Given the description of an element on the screen output the (x, y) to click on. 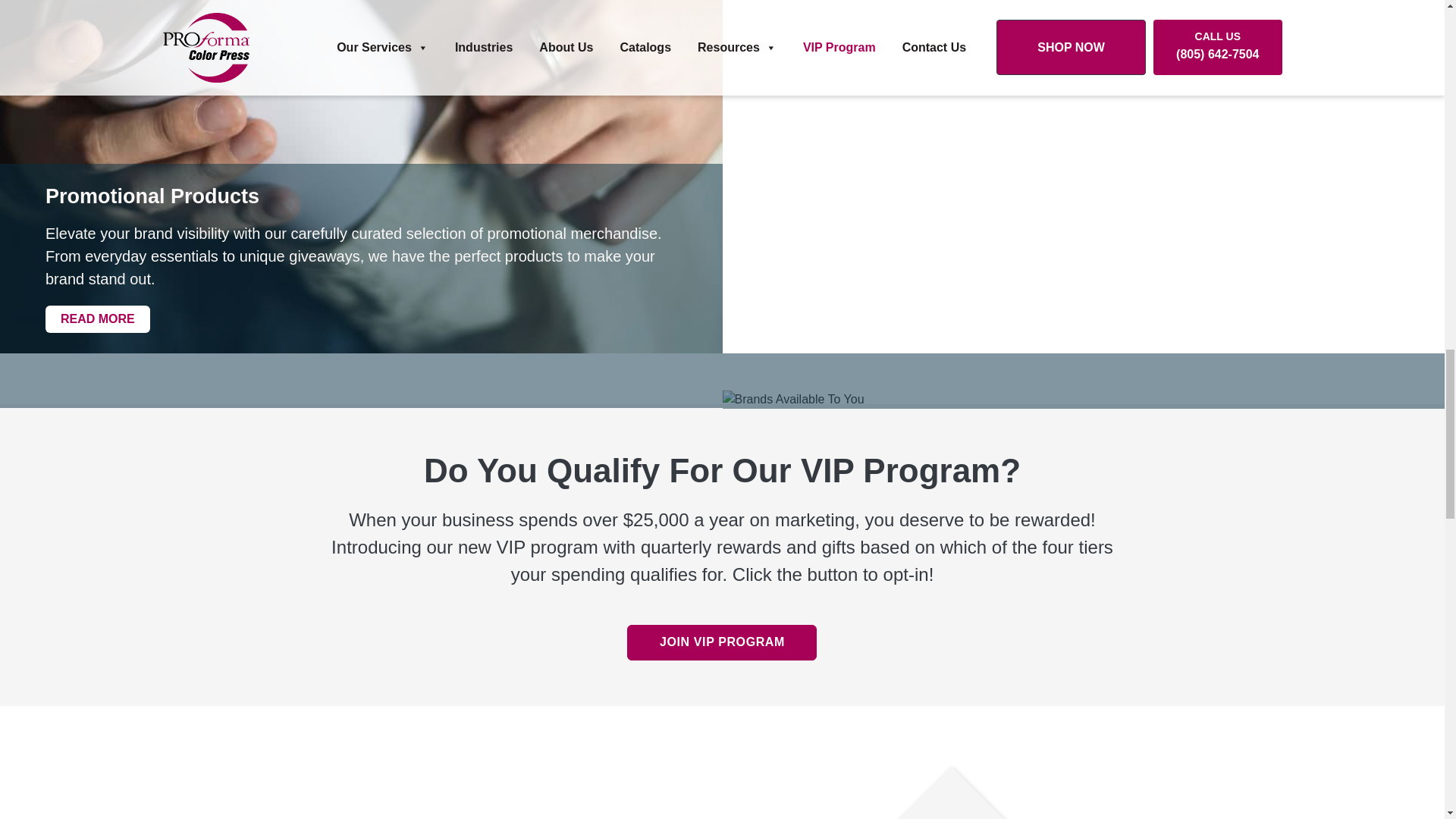
Promotional Products (361, 196)
READ MORE (97, 318)
JOIN VIP PROGRAM (721, 642)
